Given the description of an element on the screen output the (x, y) to click on. 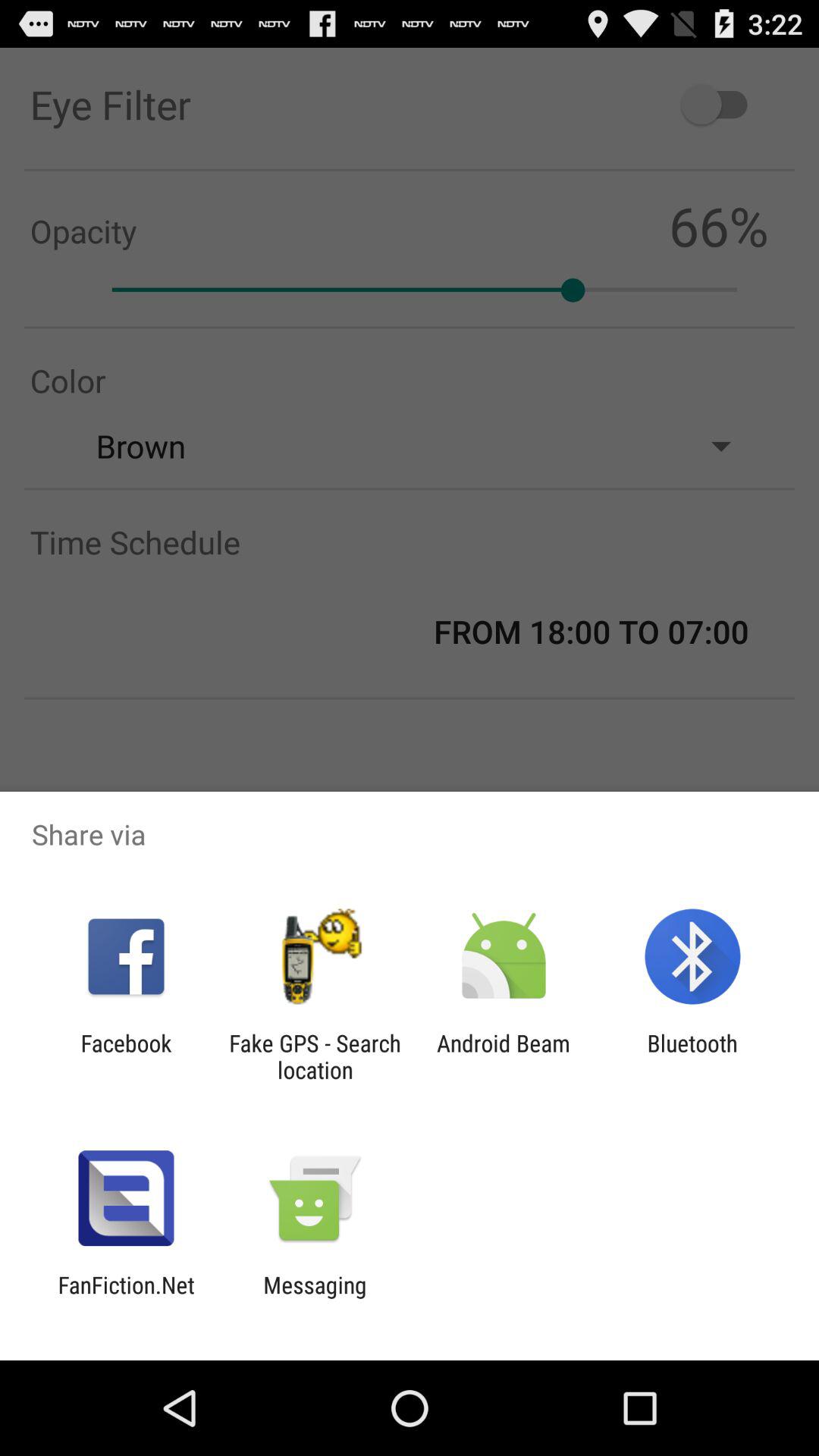
turn off the app next to the fake gps search icon (503, 1056)
